Given the description of an element on the screen output the (x, y) to click on. 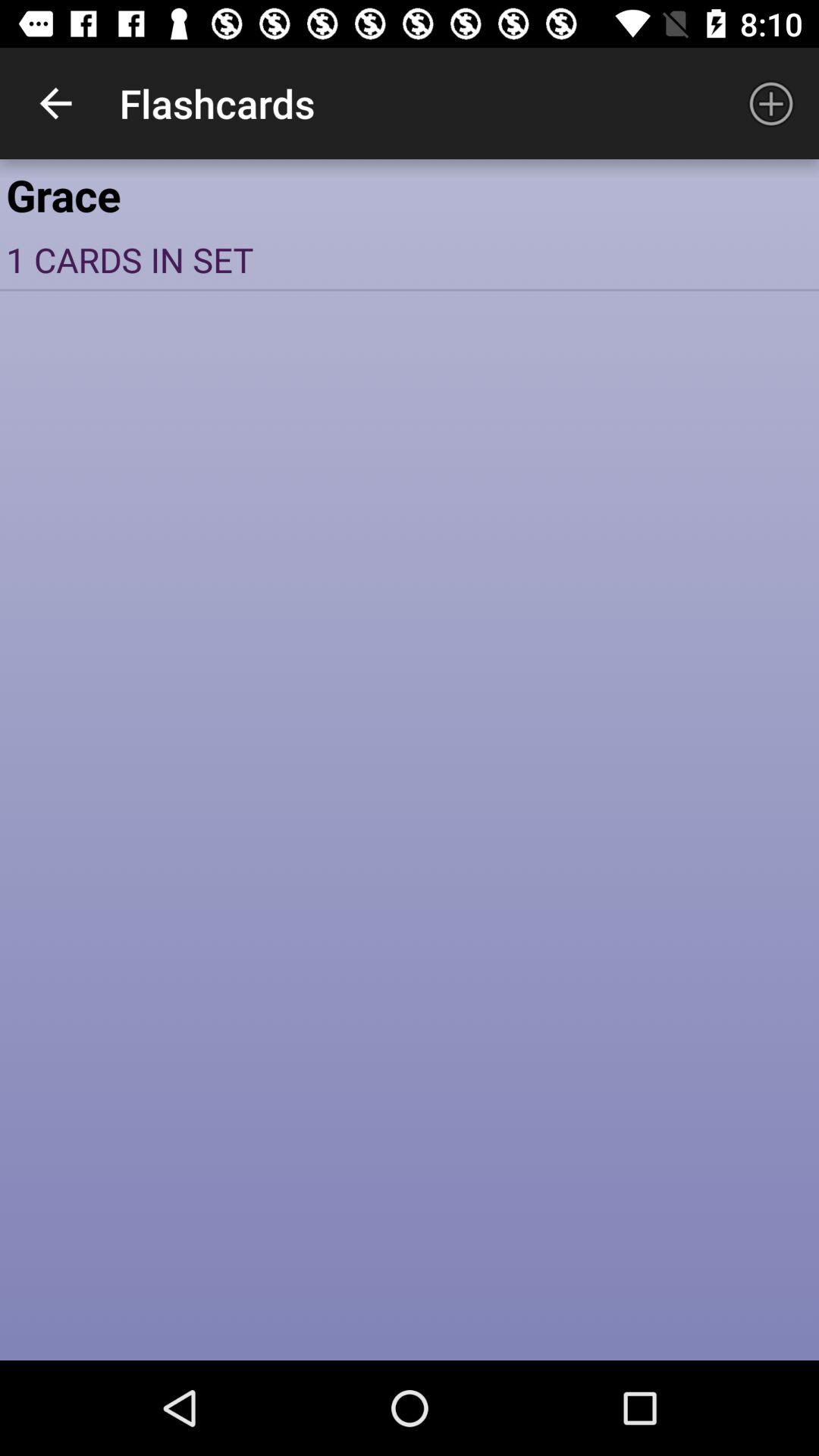
choose the item above the 1 cards in (409, 194)
